Given the description of an element on the screen output the (x, y) to click on. 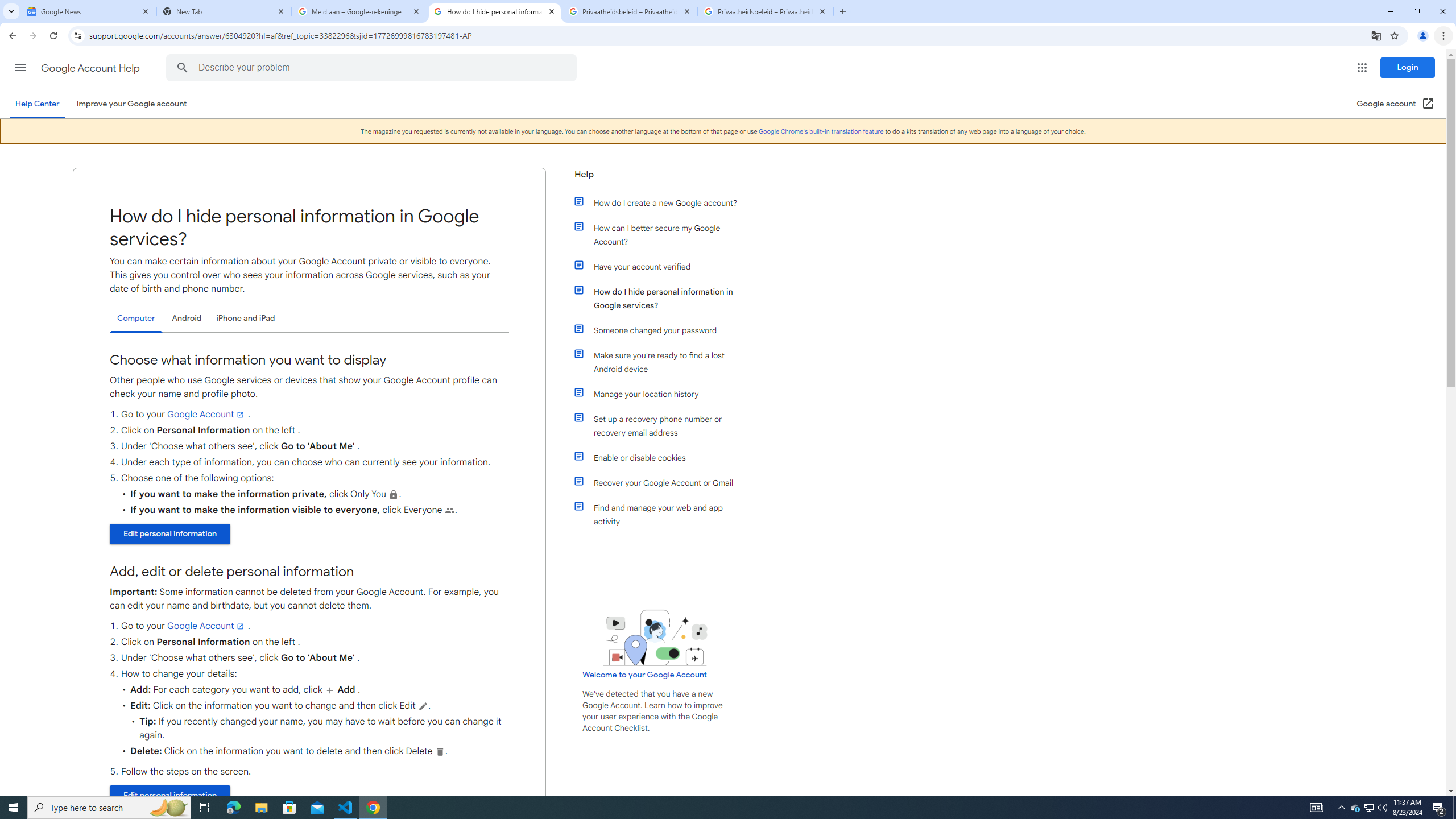
Google Account Help (91, 68)
How do I hide personal information in Google services? (661, 298)
Learning Center home page image (655, 637)
How do I create a new Google account? (661, 202)
People (449, 510)
How can I better secure my Google Account? (661, 234)
Search the Help Center (181, 67)
Recover your Google Account or Gmail (661, 482)
Help Center (36, 103)
